Given the description of an element on the screen output the (x, y) to click on. 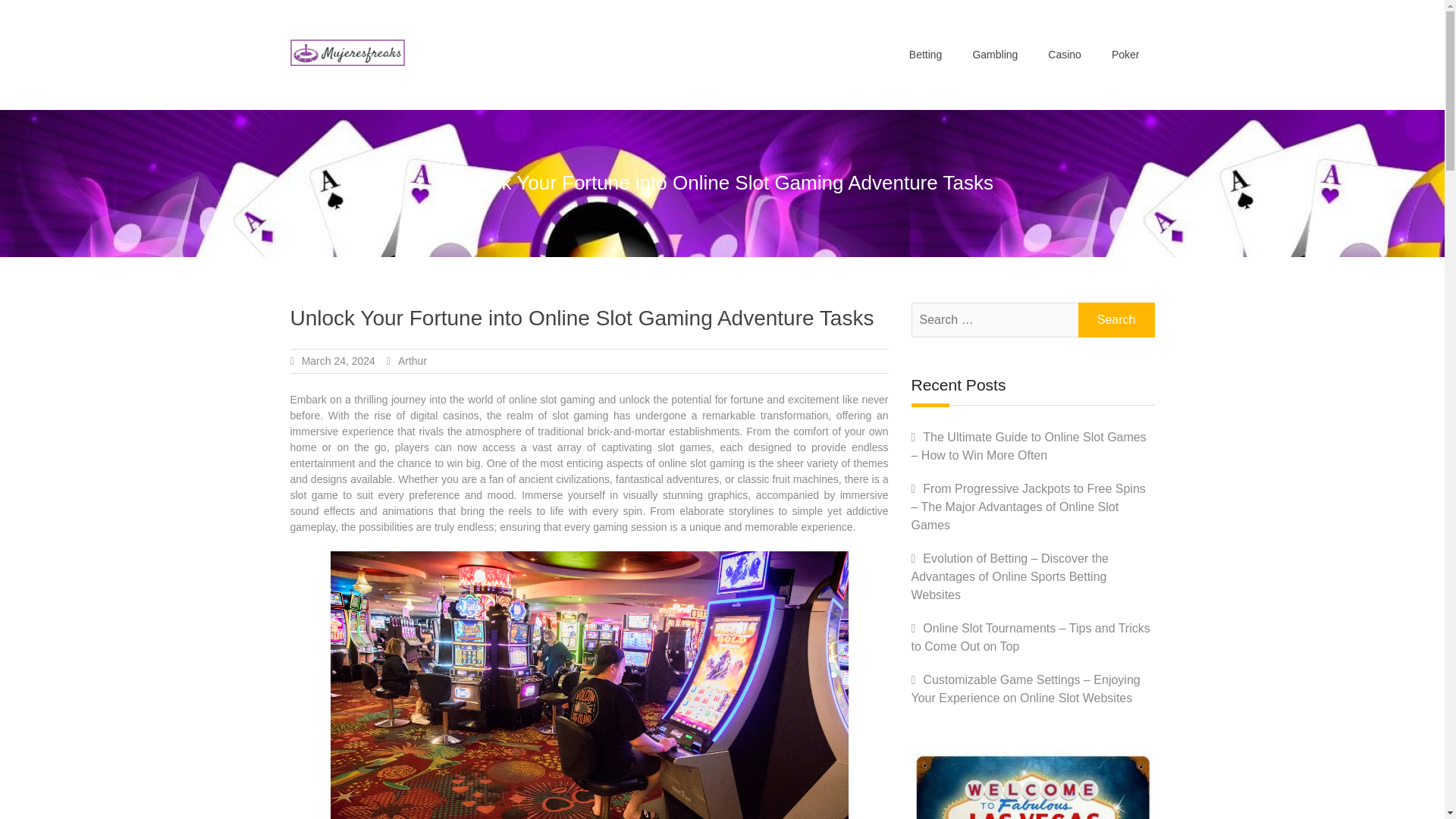
Search (1116, 319)
Arthur (411, 360)
Search (1116, 319)
Search (1116, 319)
Casino (1064, 55)
March 24, 2024 (338, 360)
Betting (925, 55)
Gambling (994, 55)
Poker (1125, 55)
